Given the description of an element on the screen output the (x, y) to click on. 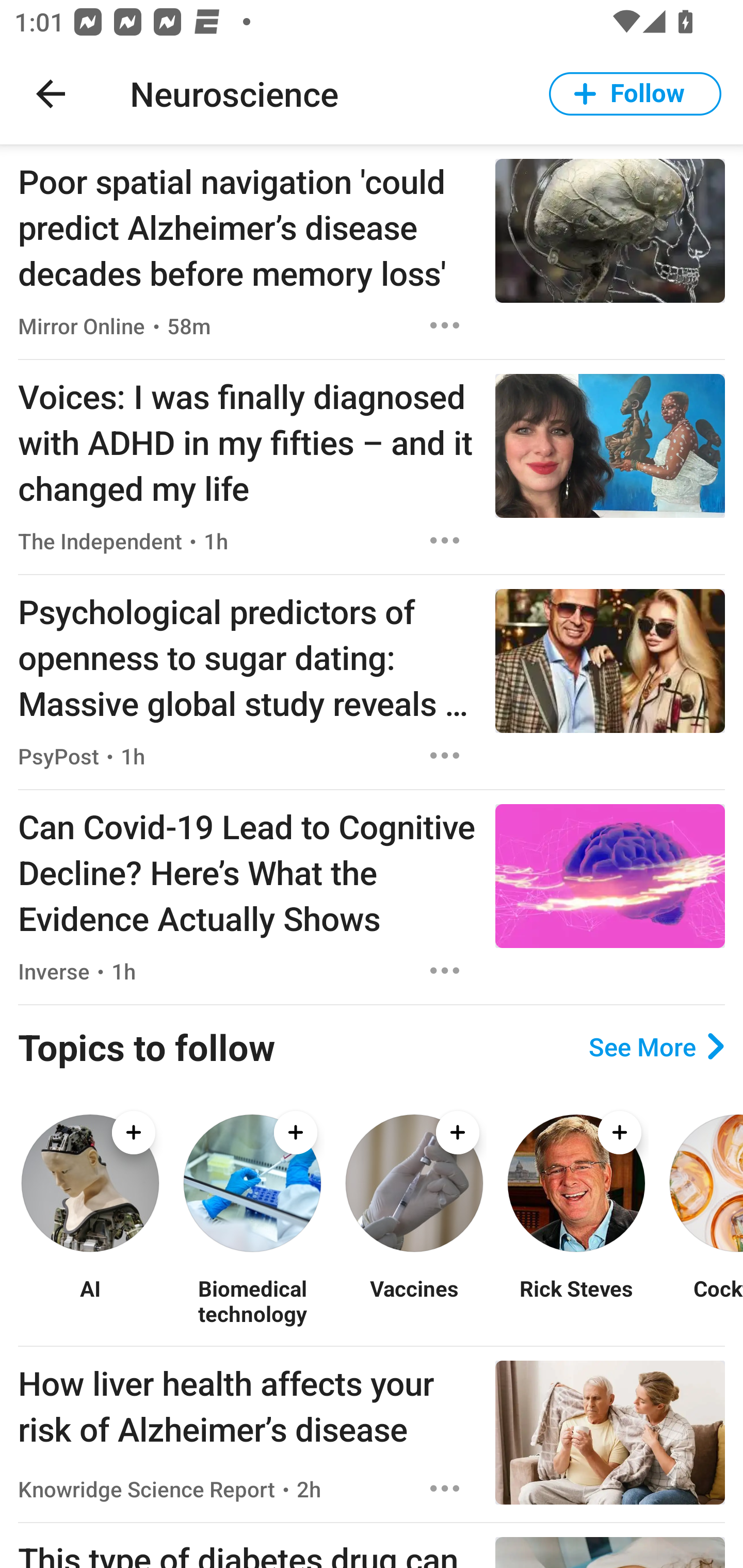
Navigate up (50, 93)
Follow (635, 94)
Options (444, 325)
Options (444, 540)
Options (444, 755)
Options (444, 970)
See More (656, 1046)
AI (89, 1300)
Biomedical technology (251, 1300)
Vaccines (413, 1300)
Rick Steves (575, 1300)
Options (444, 1488)
